Given the description of an element on the screen output the (x, y) to click on. 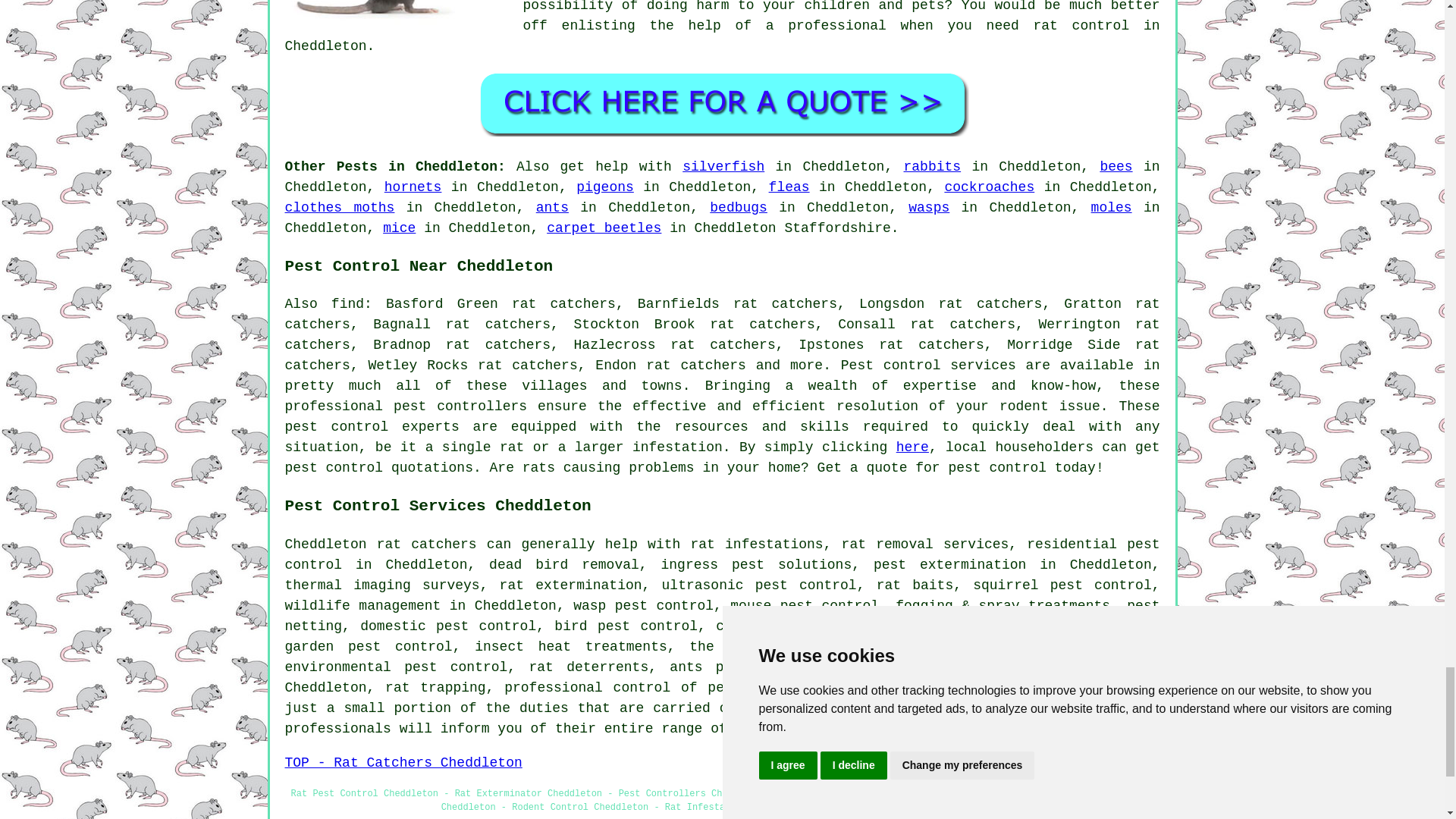
pest control (334, 467)
pest control (336, 426)
rat catchers (427, 544)
Pest control services (928, 365)
